Given the description of an element on the screen output the (x, y) to click on. 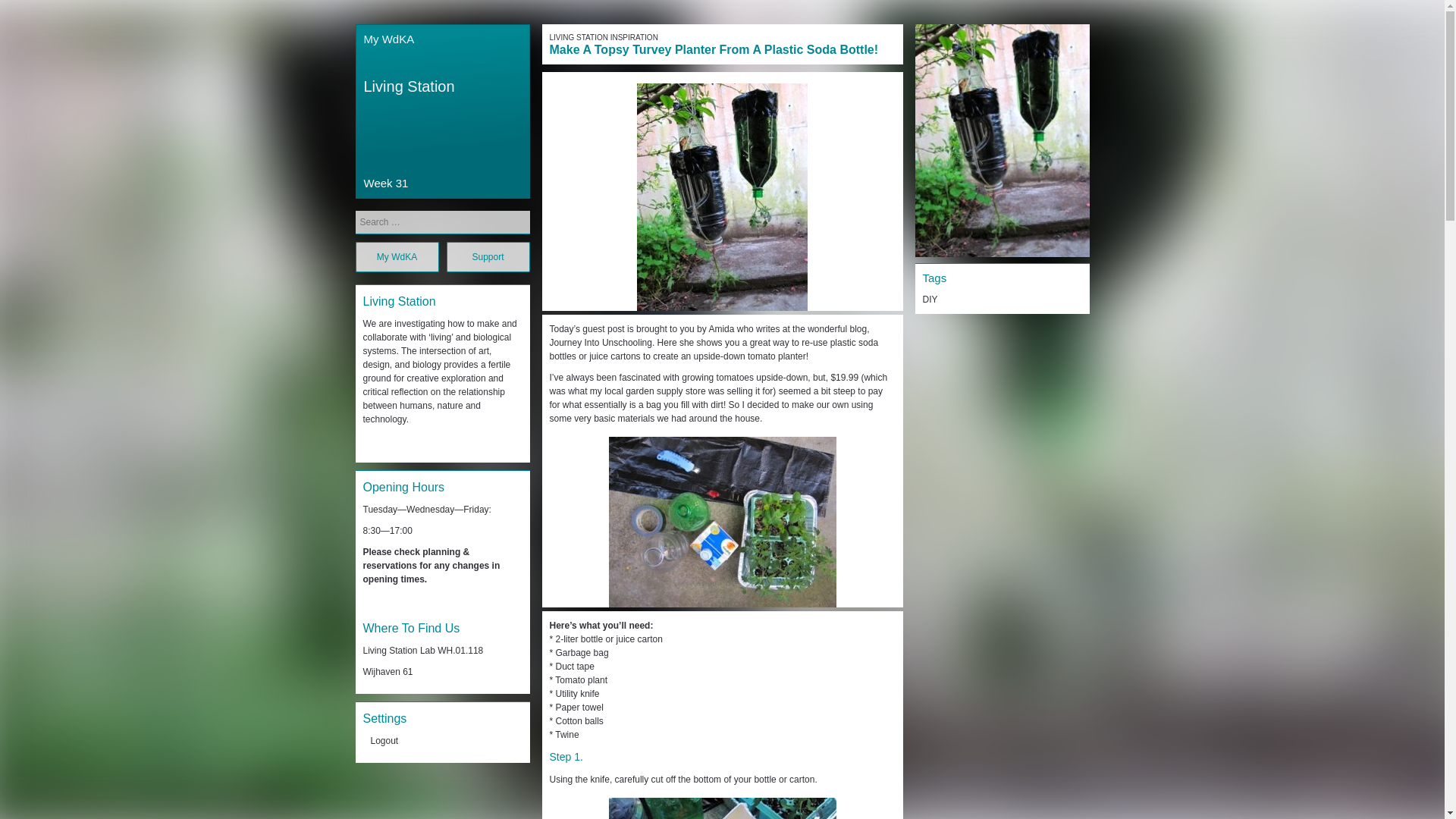
Logout (383, 740)
My WdKA (389, 38)
Living Station (409, 86)
Logout (383, 740)
Support (487, 256)
My WdKA (396, 256)
